Given the description of an element on the screen output the (x, y) to click on. 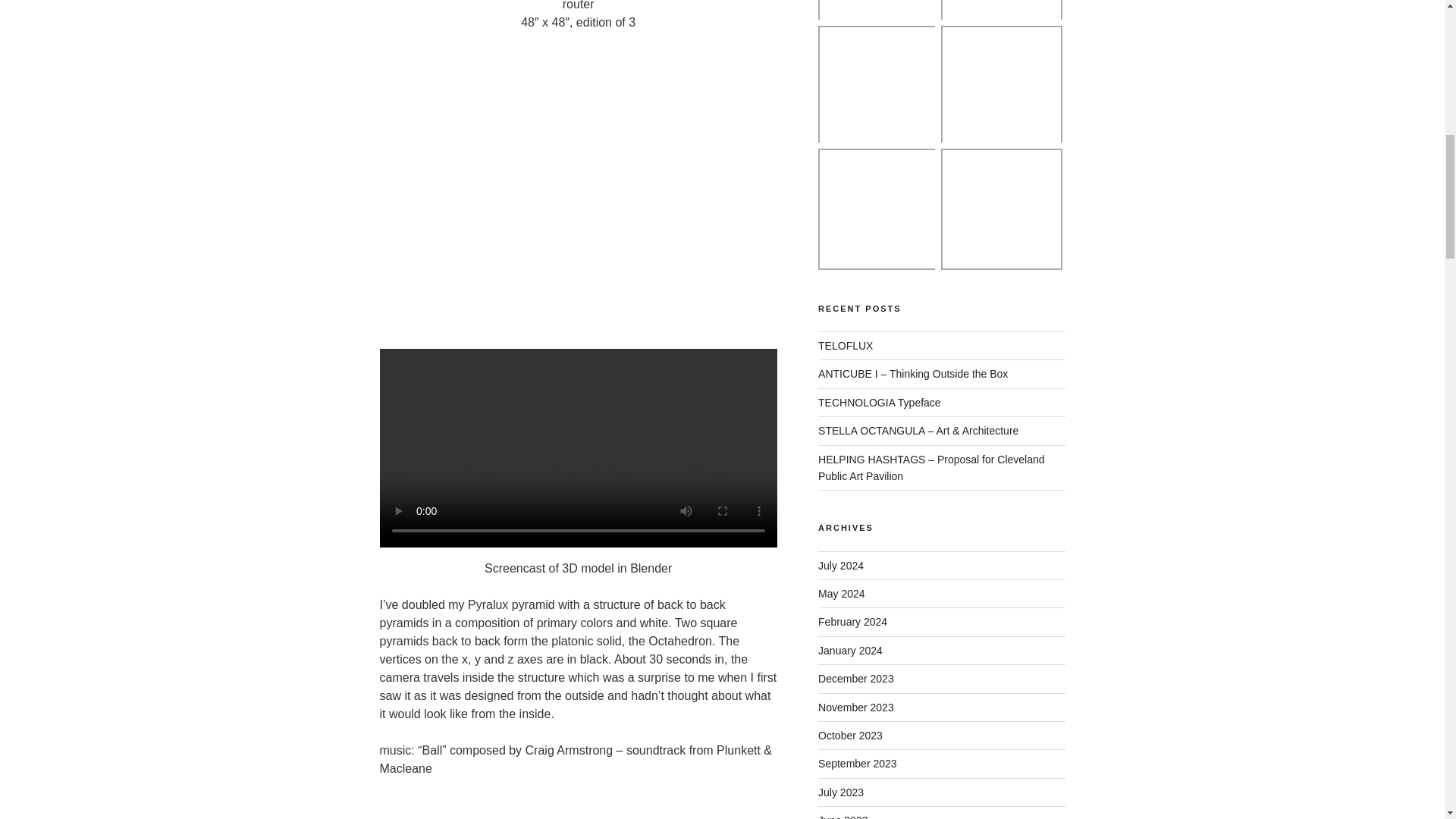
Landscape (878, 86)
Path Of Travel No.1 (1001, 86)
CIRCULUX I (878, 209)
Flesh And Blood (878, 12)
